Given the description of an element on the screen output the (x, y) to click on. 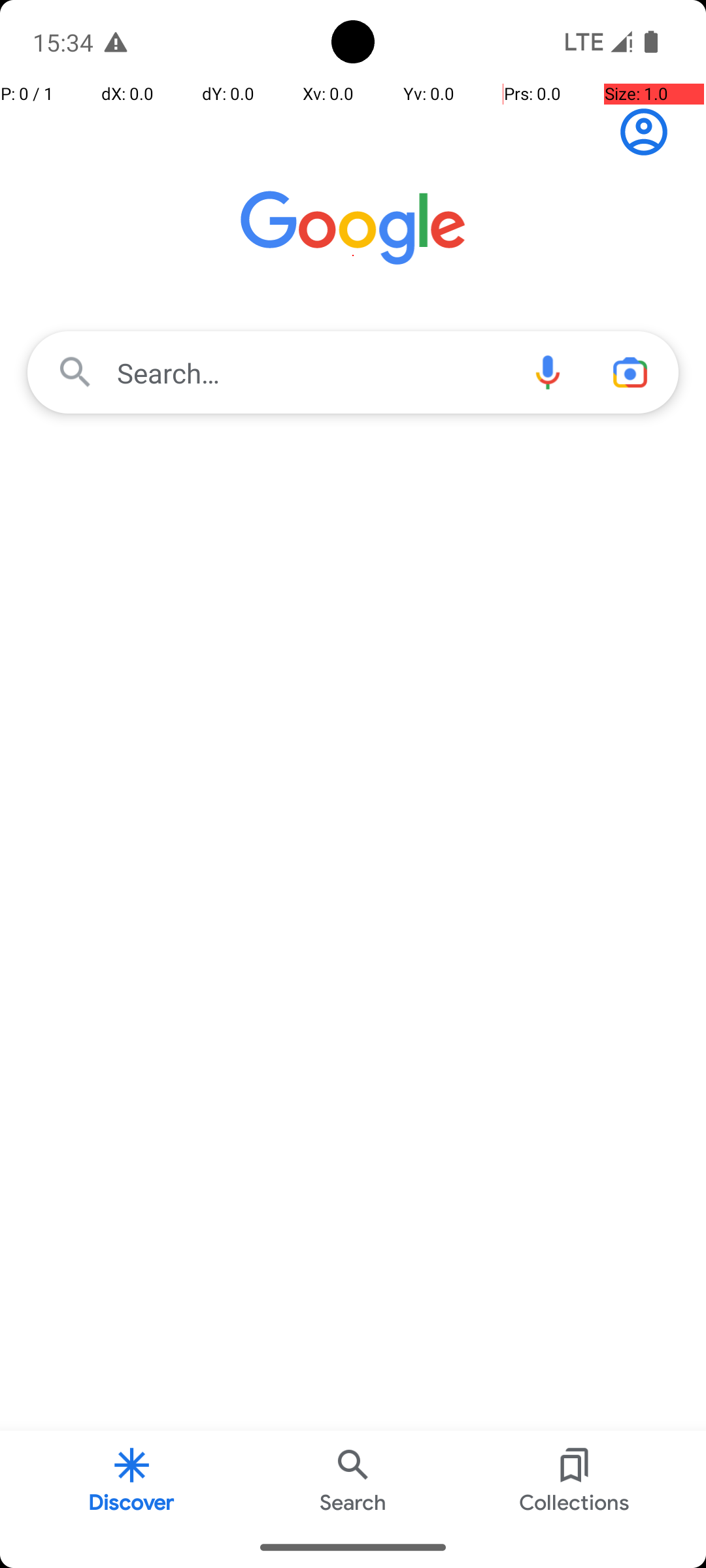
Sign in Element type: android.widget.FrameLayout (650, 131)
Camera search Element type: android.widget.ImageButton (629, 372)
Discover Element type: android.widget.FrameLayout (131, 1478)
Collections Button Element type: android.widget.FrameLayout (574, 1478)
